Given the description of an element on the screen output the (x, y) to click on. 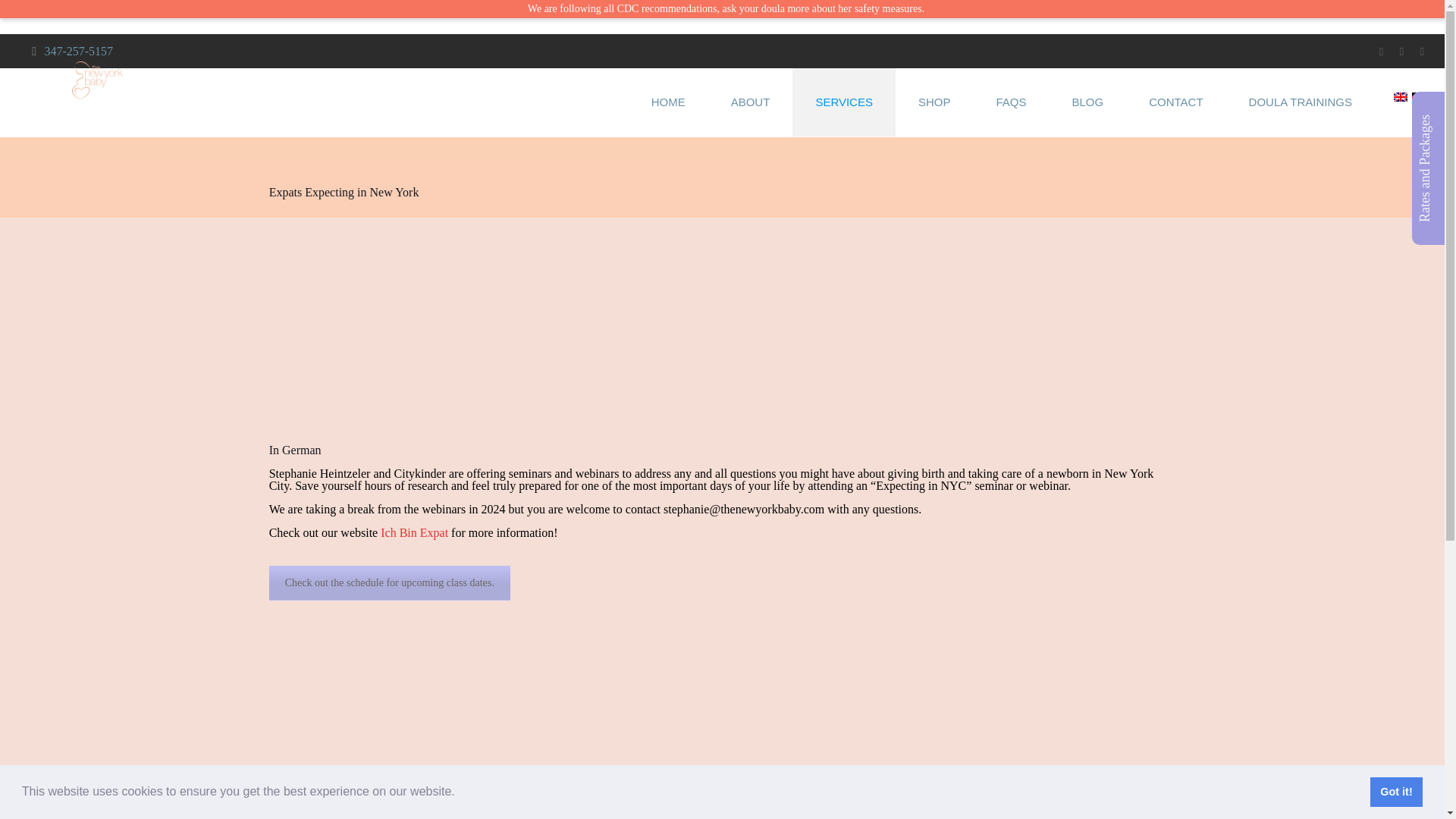
Twitter (1401, 51)
LinkedIn (1421, 51)
347-257-5157 (78, 51)
ABOUT (750, 101)
The New York Baby (128, 79)
FAQS (1010, 101)
Got it! (1396, 791)
HOME (667, 101)
DOULA TRAININGS (1299, 101)
Facebook (1381, 51)
SHOP (934, 101)
CONTACT (1175, 101)
BLOG (1087, 101)
SERVICES (843, 101)
